Given the description of an element on the screen output the (x, y) to click on. 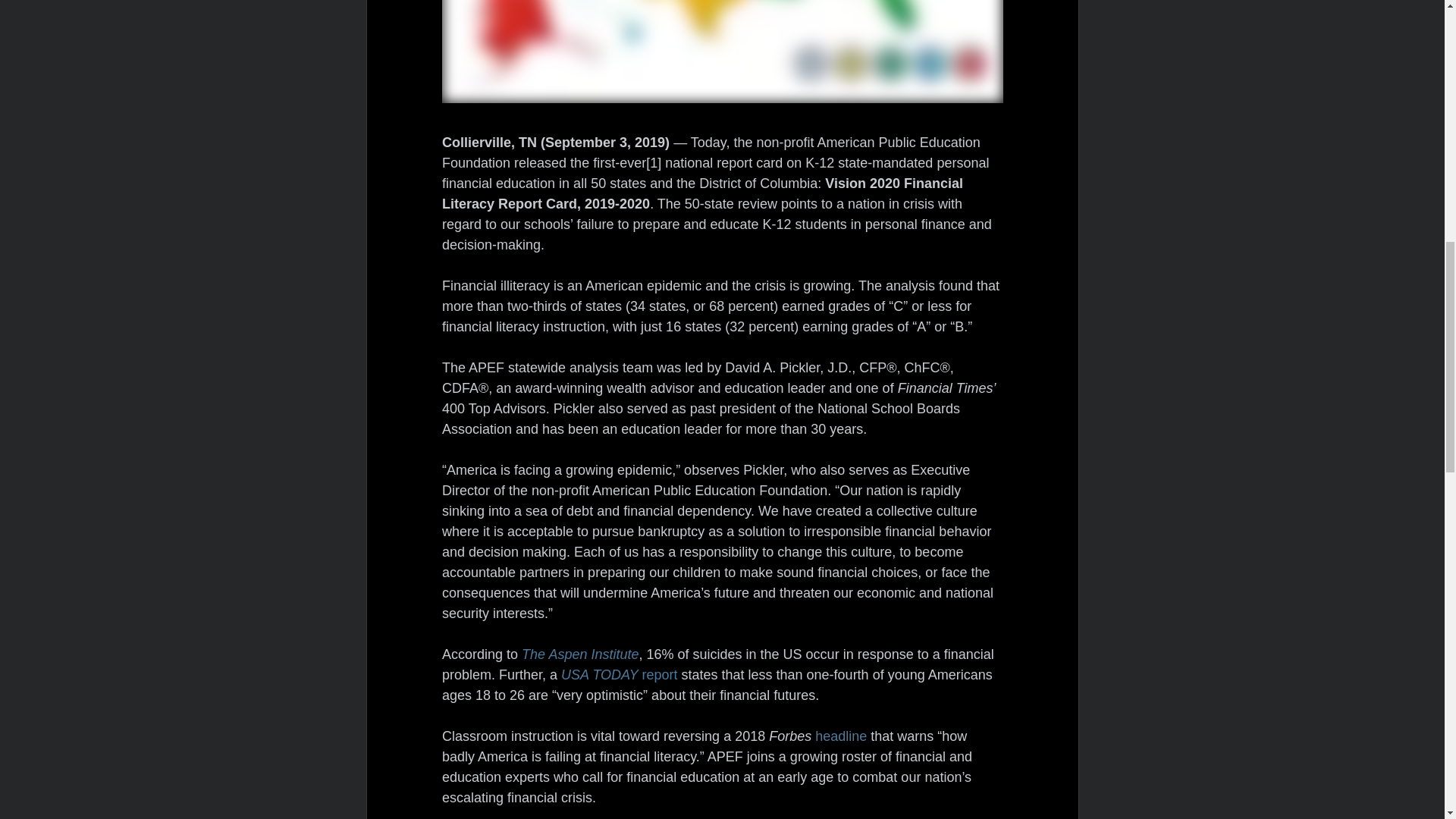
USA TODAY  (601, 674)
headline (840, 735)
report (659, 674)
The Aspen Institute (580, 654)
